Given the description of an element on the screen output the (x, y) to click on. 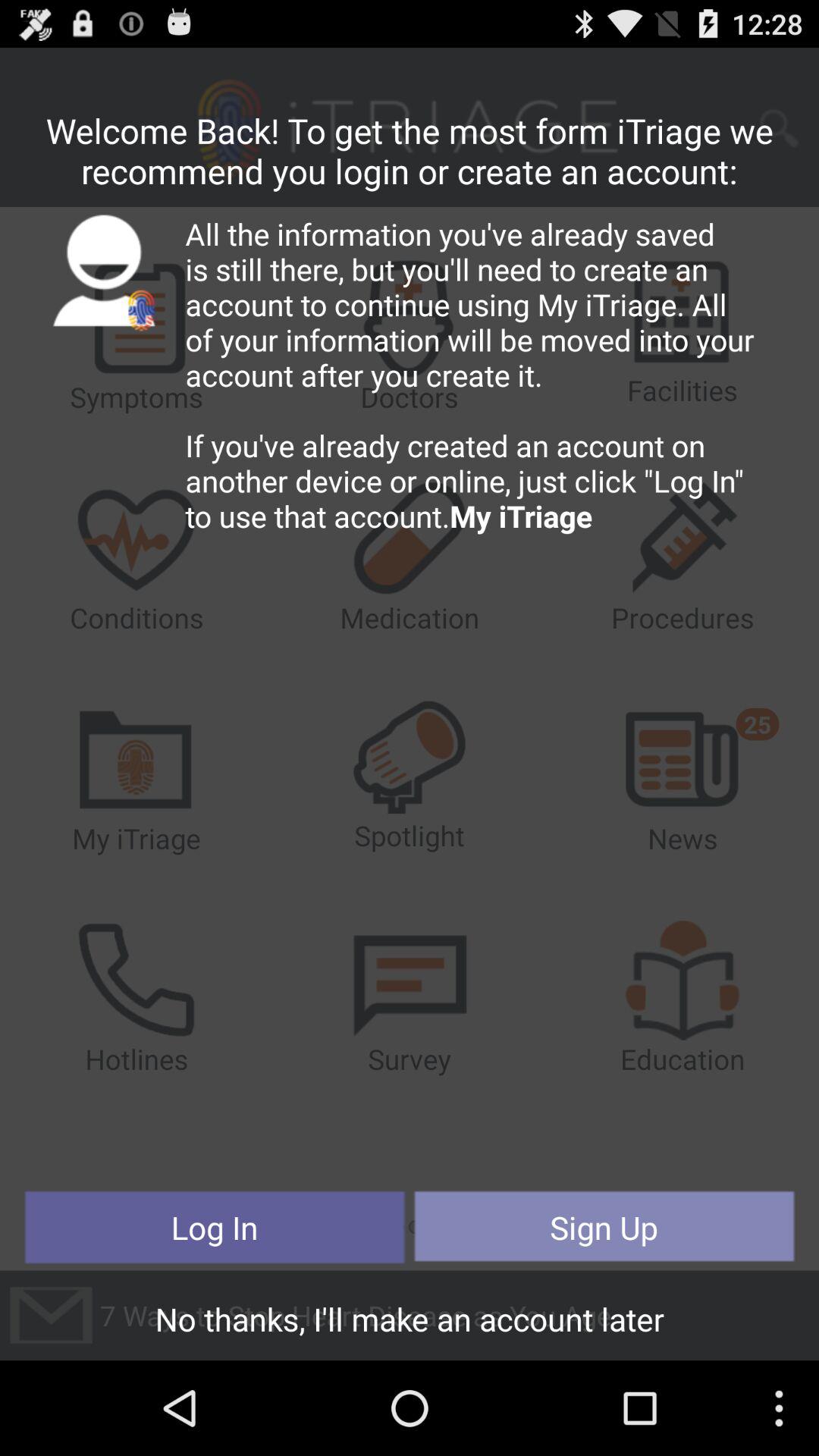
press the sign up (604, 1227)
